Given the description of an element on the screen output the (x, y) to click on. 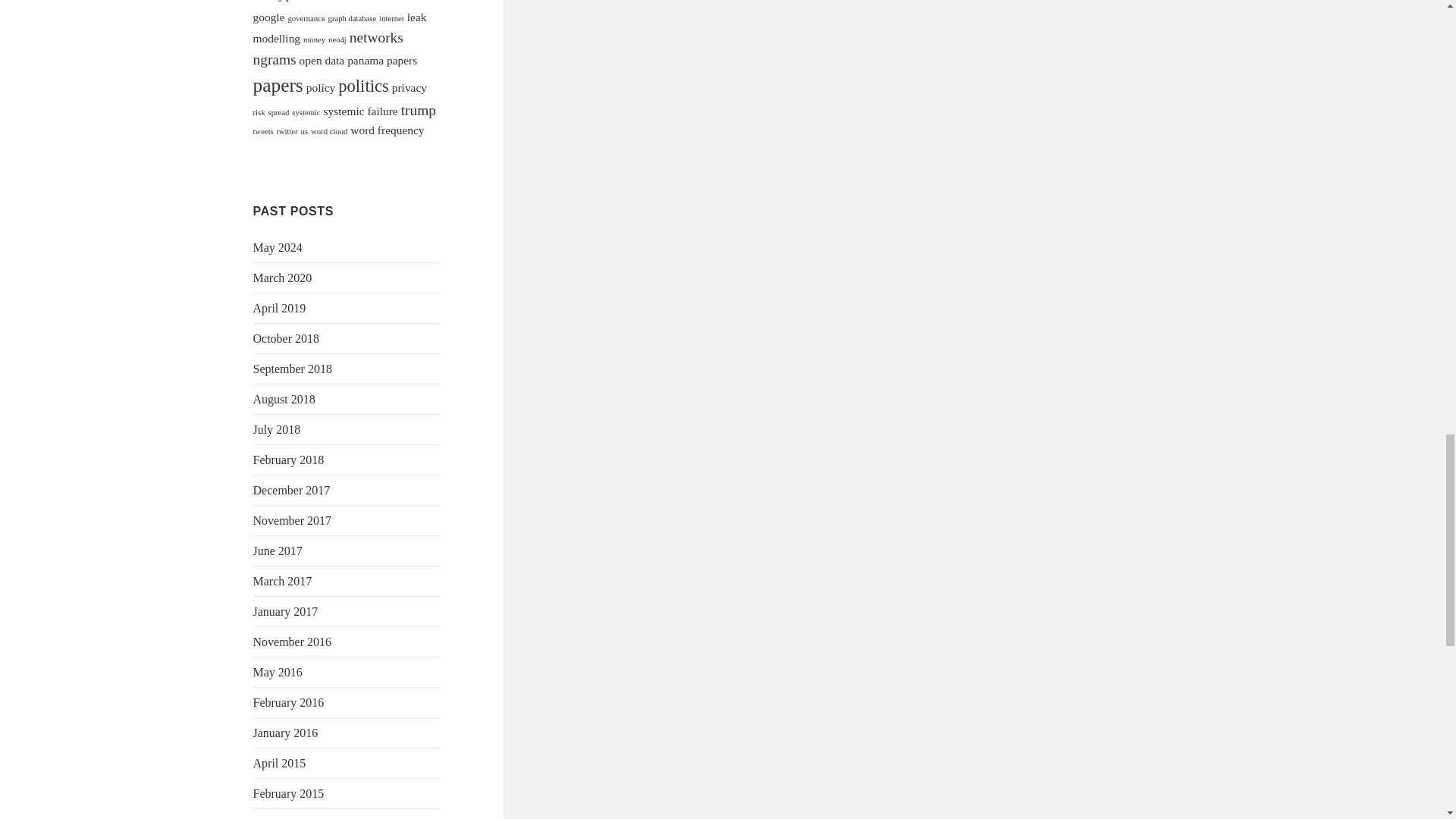
encryption (284, 0)
google (269, 16)
finance (374, 1)
